Given the description of an element on the screen output the (x, y) to click on. 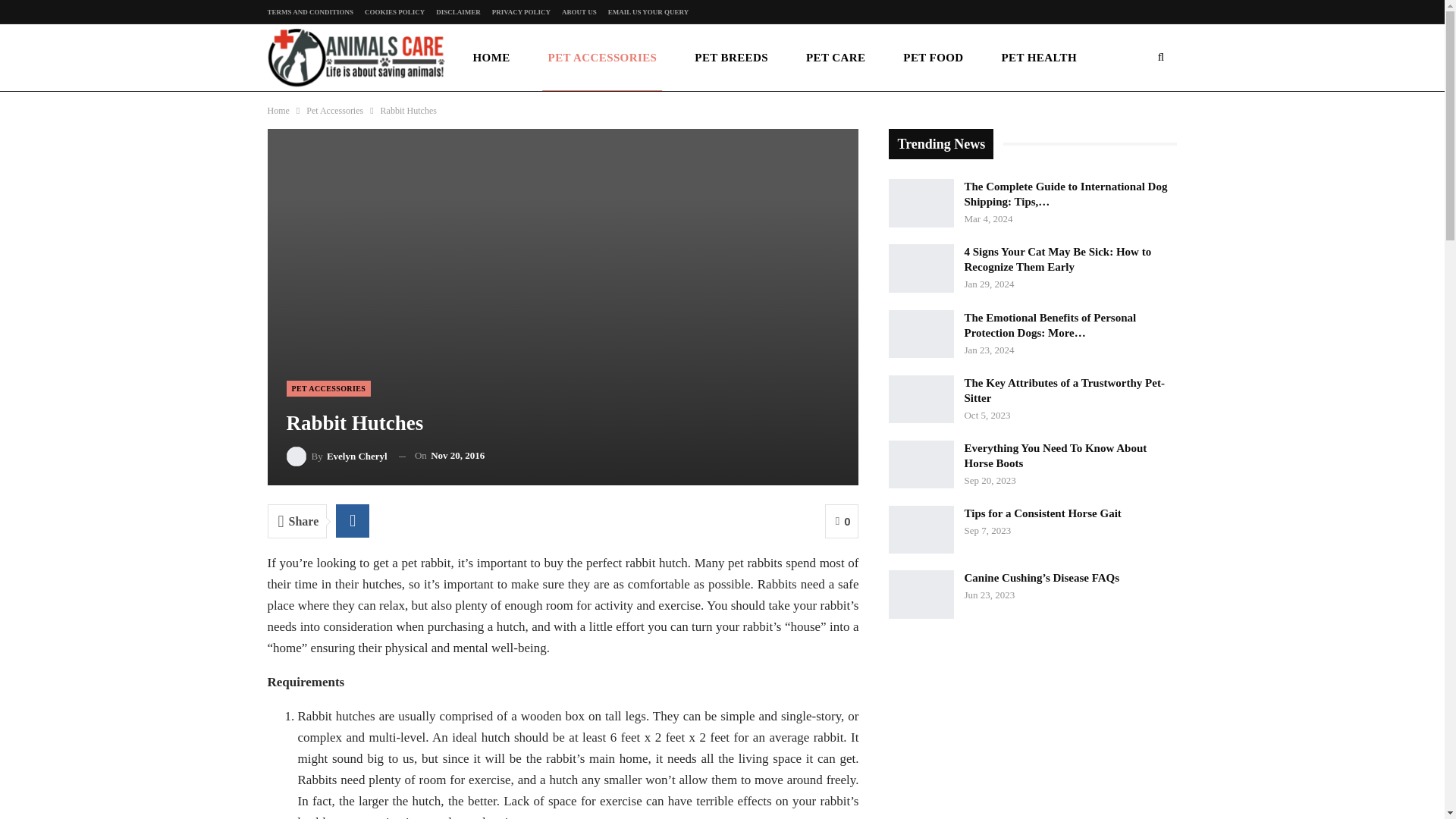
TERMS AND CONDITIONS (309, 11)
PRIVACY POLICY (521, 11)
PET HEALTH (1038, 57)
PET BREEDS (730, 57)
PET ACCESSORIES (328, 388)
By Evelyn Cheryl (336, 455)
Pet Accessories (333, 110)
Browse Author Articles (336, 455)
ABOUT US (579, 11)
PET CARE (835, 57)
COOKIES POLICY (395, 11)
PET ACCESSORIES (602, 57)
EMAIL US YOUR QUERY (648, 11)
DISCLAIMER (457, 11)
